Given the description of an element on the screen output the (x, y) to click on. 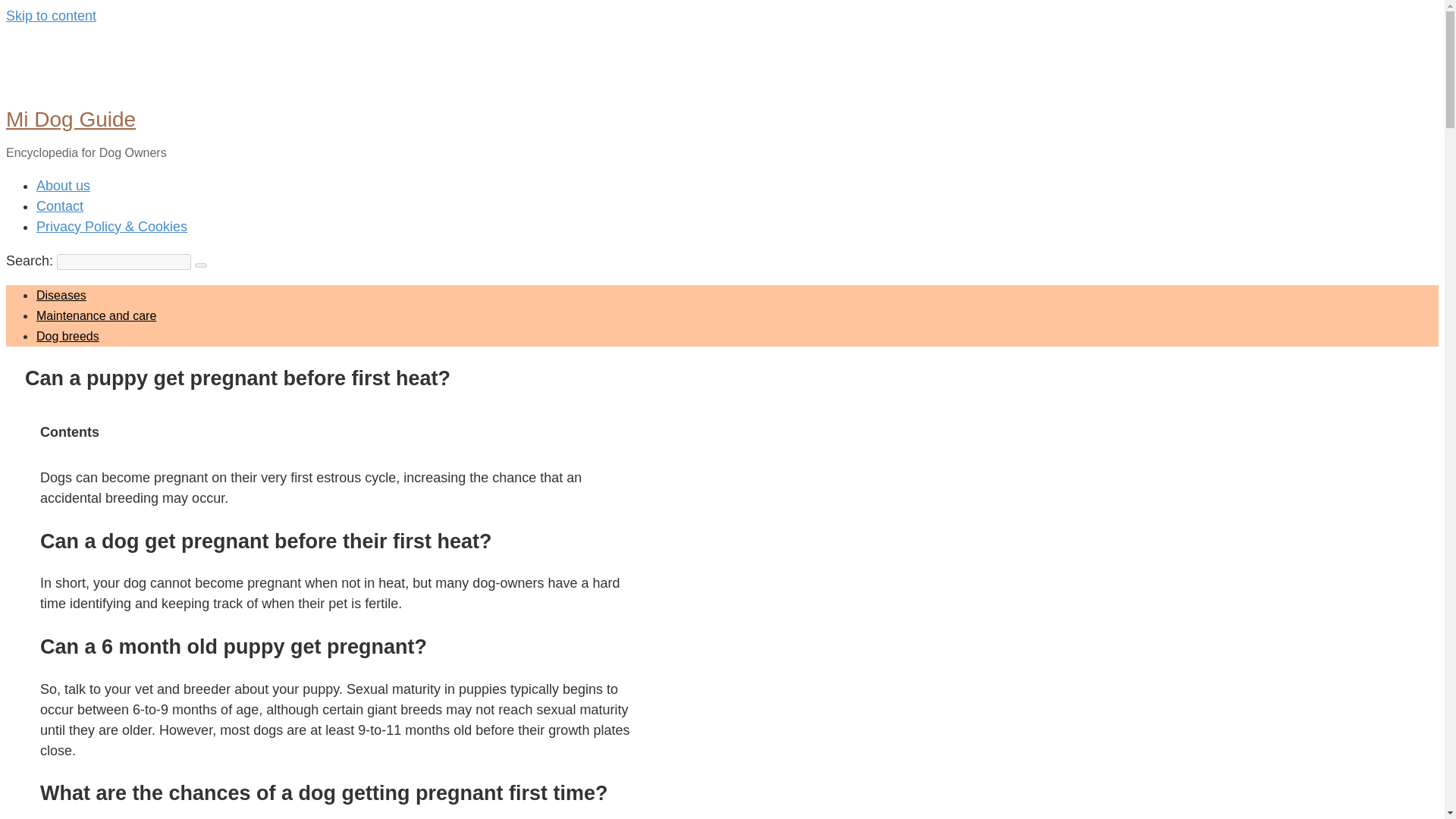
Maintenance and care (95, 315)
Contact (59, 206)
Skip to content (50, 15)
About us (63, 185)
Dog breeds (67, 336)
Mi Dog Guide (70, 119)
Diseases (60, 295)
